Given the description of an element on the screen output the (x, y) to click on. 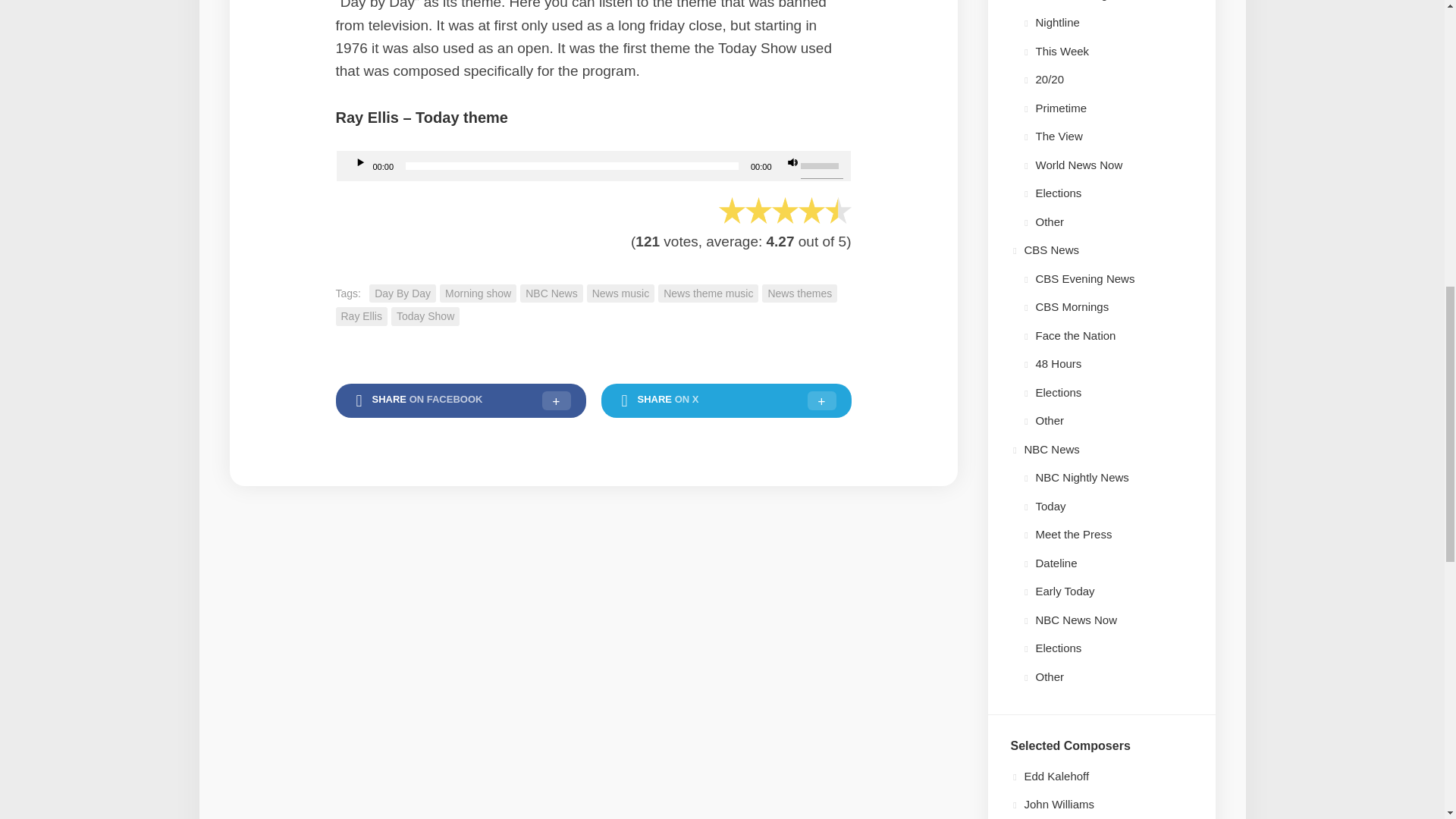
Play (354, 158)
Mute (786, 158)
